Given the description of an element on the screen output the (x, y) to click on. 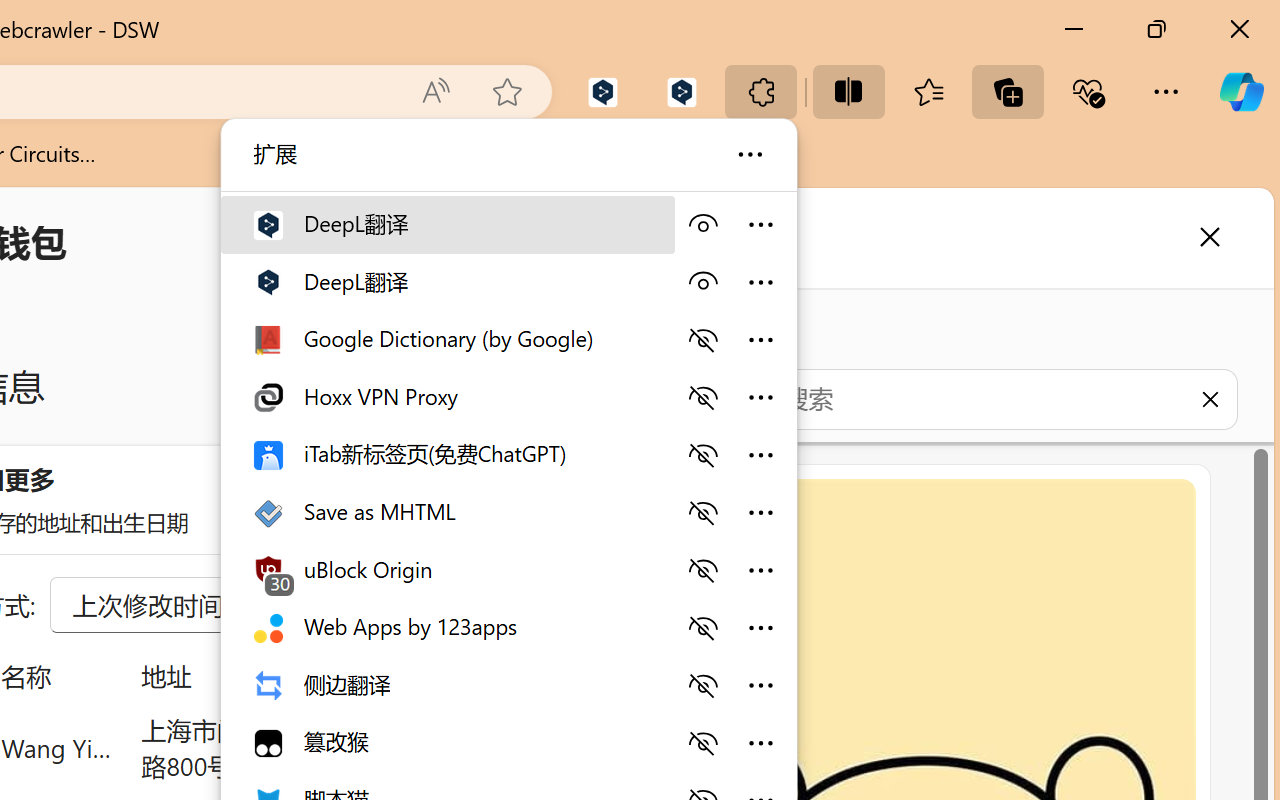
Hoxx VPN Proxy (445, 395)
Save as MHTML (445, 510)
Web Apps by 123apps (445, 625)
